Given the description of an element on the screen output the (x, y) to click on. 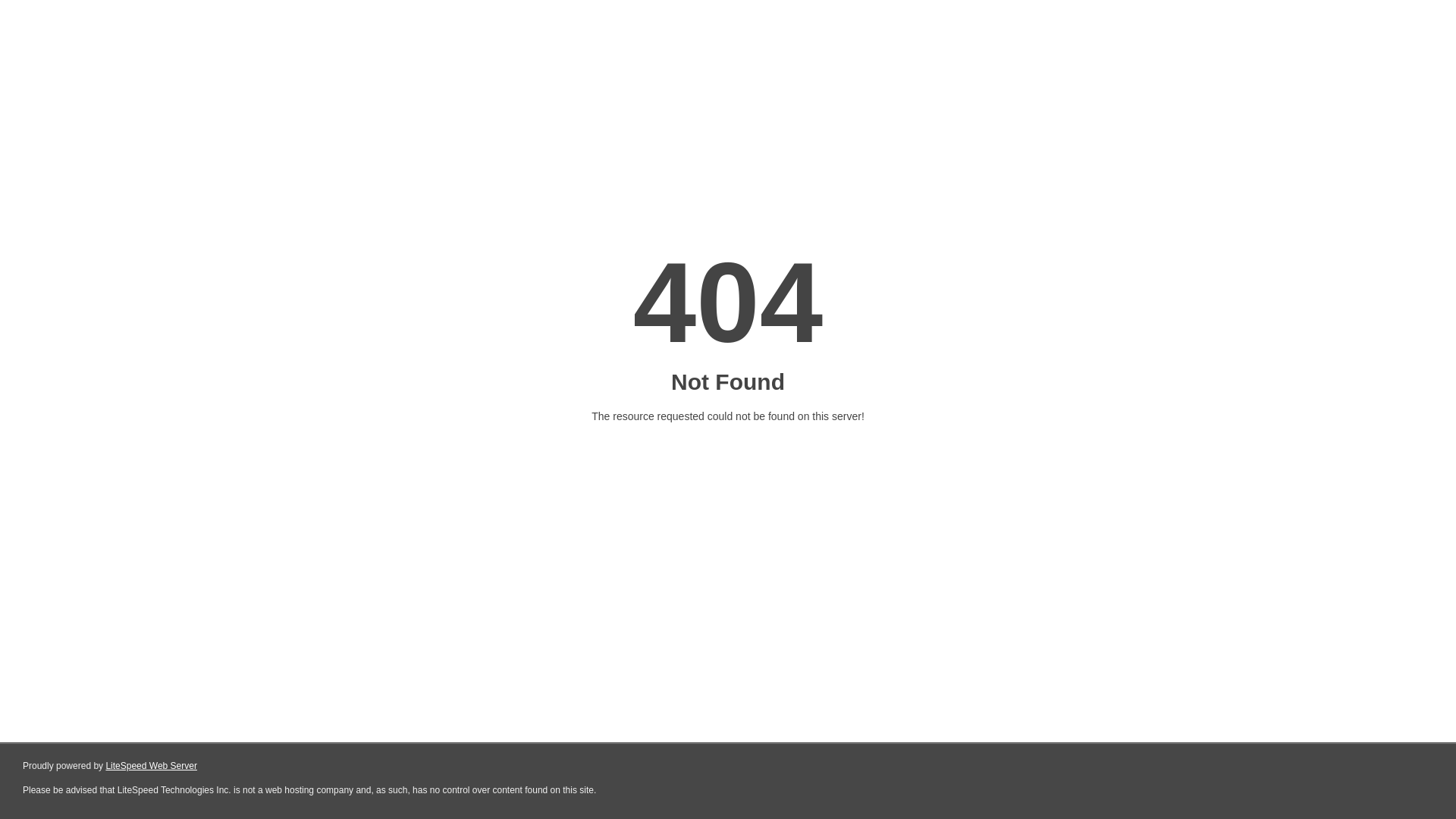
LiteSpeed Web Server Element type: text (151, 765)
